Given the description of an element on the screen output the (x, y) to click on. 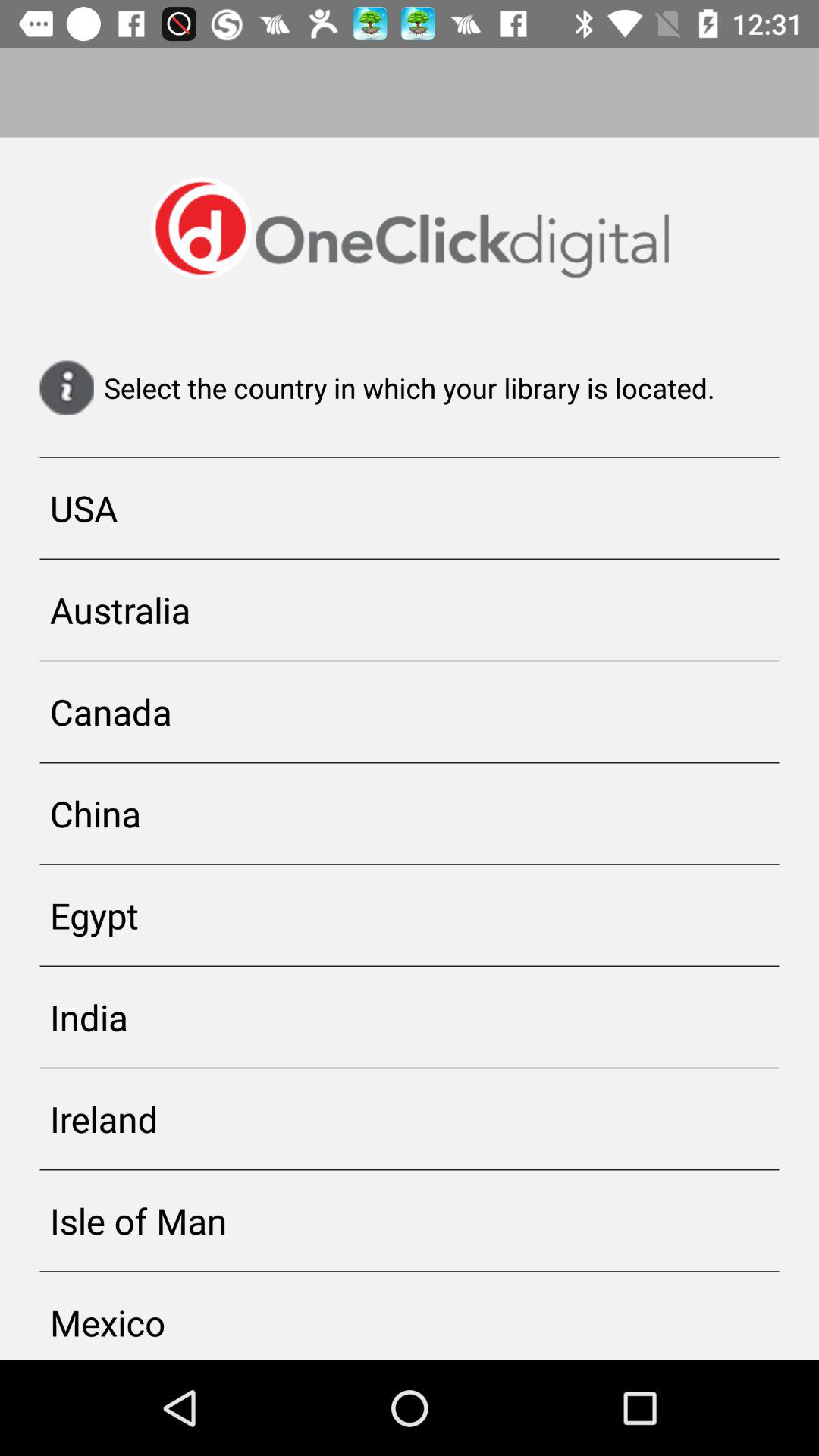
jump to the egypt icon (409, 915)
